Given the description of an element on the screen output the (x, y) to click on. 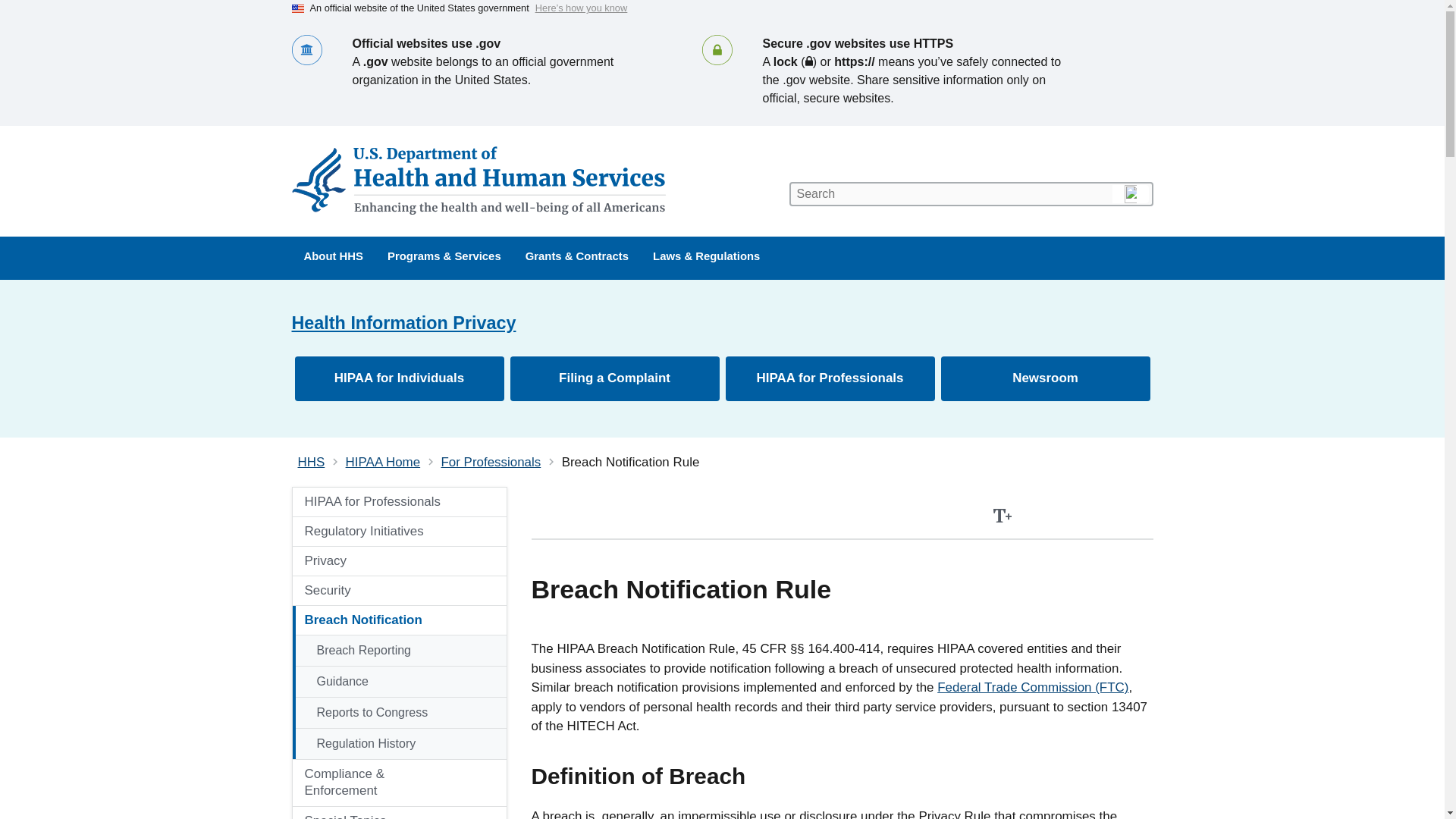
Guidance (399, 681)
Email (1137, 515)
Skip to main content (721, 6)
HIPAA Home (383, 462)
Breach Reporting (399, 650)
Filing a Complaint (614, 378)
HHS (310, 462)
X (1104, 515)
Home (480, 180)
Reports to Congress (399, 712)
Newsroom (1045, 378)
Breach Notification (382, 620)
HIPAA for Professionals (399, 501)
Facebook (1069, 515)
HIPAA for Professionals (829, 378)
